Given the description of an element on the screen output the (x, y) to click on. 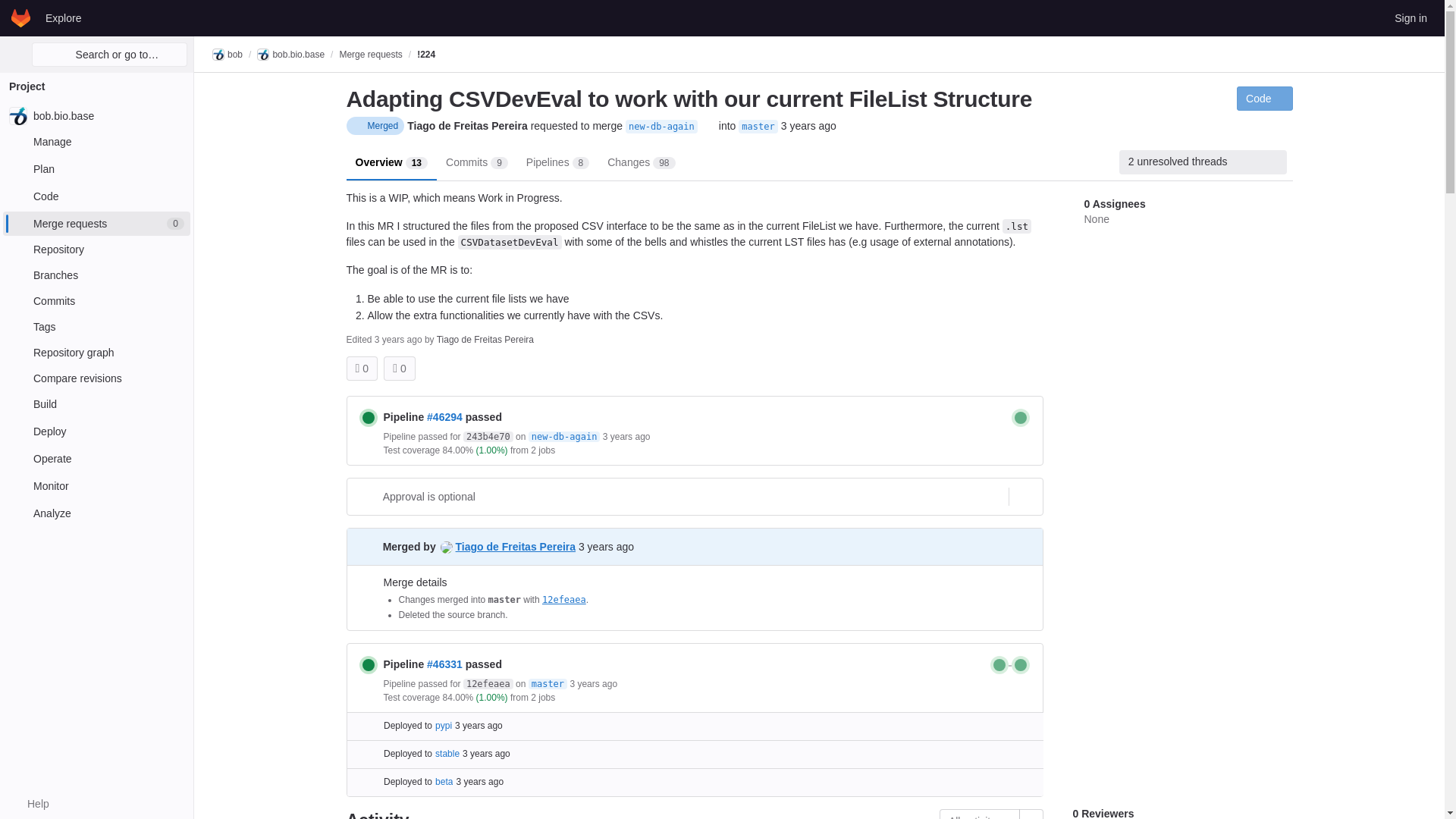
new-db-again (661, 126)
Explore (63, 17)
Compare revisions (96, 378)
Homepage (20, 17)
Plan (96, 168)
Repository (96, 249)
Sign in (1410, 17)
Commits (96, 300)
build: passed (1020, 417)
bob.bio.base (96, 115)
Manage (96, 141)
Monitor (96, 485)
Deploy (96, 431)
Passed (368, 417)
master (757, 126)
